Given the description of an element on the screen output the (x, y) to click on. 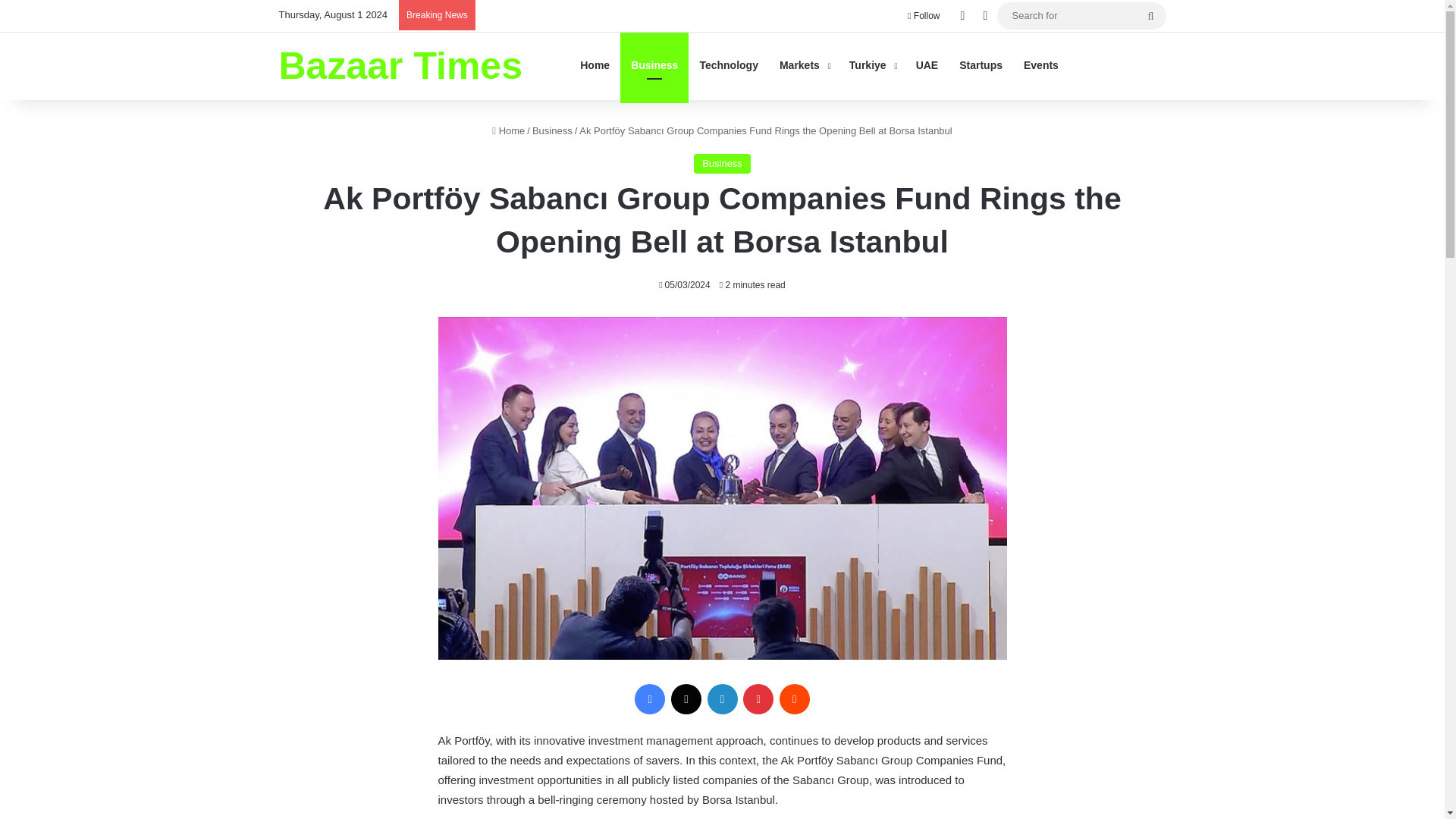
Home (508, 130)
Follow (923, 15)
Bazaar Times (400, 65)
Facebook (649, 698)
Turkiye (871, 65)
Markets (803, 65)
Bazaar Times (400, 65)
Facebook (649, 698)
LinkedIn (721, 698)
Business (722, 163)
Reddit (793, 698)
Startups (981, 65)
Business (654, 65)
Search for (1150, 15)
Technology (728, 65)
